Given the description of an element on the screen output the (x, y) to click on. 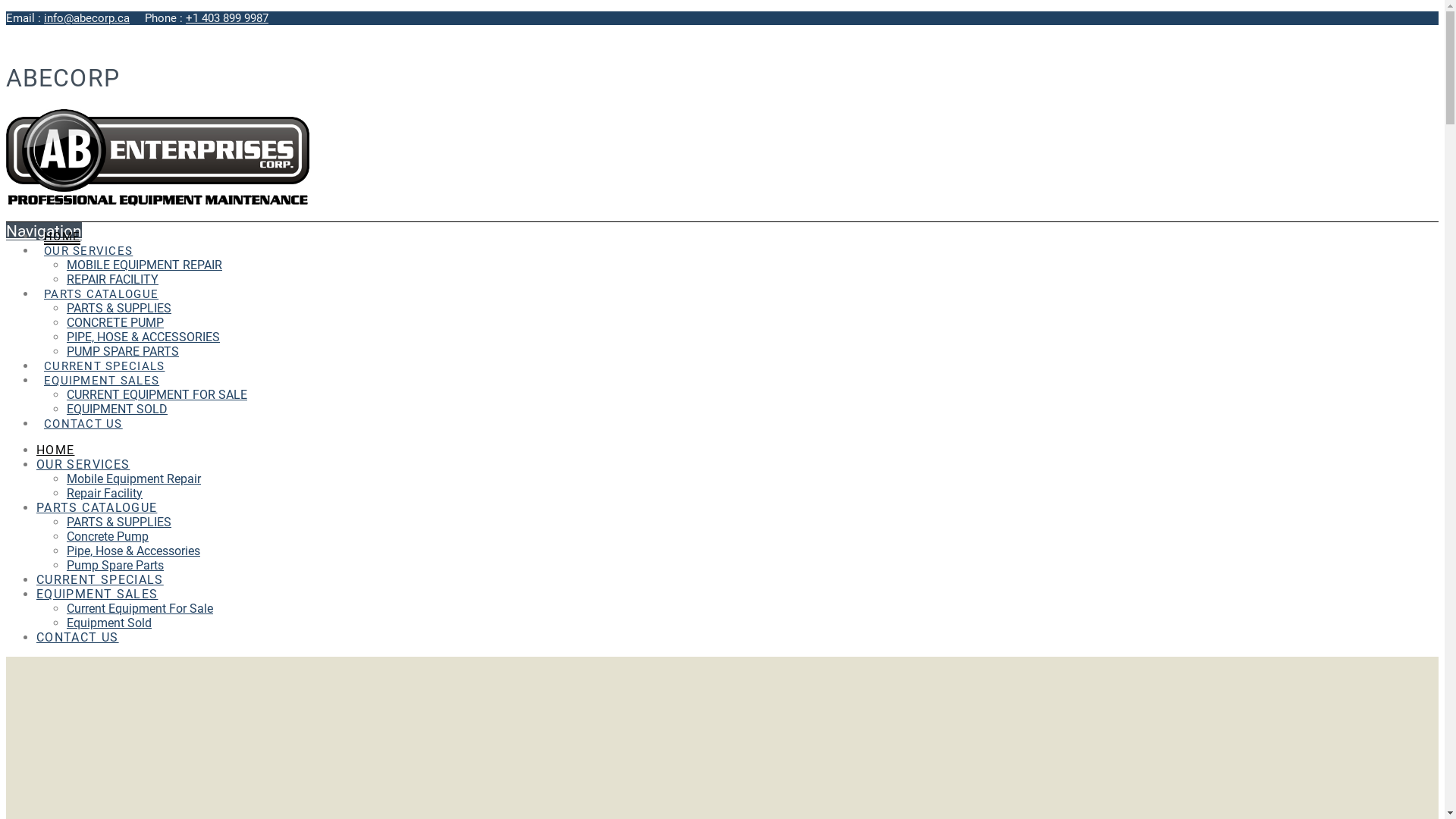
PIPE, HOSE & ACCESSORIES Element type: text (142, 336)
CURRENT SPECIALS Element type: text (103, 349)
Mobile Equipment Repair Element type: text (133, 478)
Navigation Element type: text (43, 231)
CONCRETE PUMP Element type: text (114, 322)
Pipe, Hose & Accessories Element type: text (133, 550)
OUR SERVICES Element type: text (87, 234)
EQUIPMENT SALES Element type: text (96, 593)
MOBILE EQUIPMENT REPAIR Element type: text (144, 264)
Pump Spare Parts Element type: text (114, 565)
CURRENT EQUIPMENT FOR SALE Element type: text (156, 394)
CURRENT SPECIALS Element type: text (99, 579)
abecorp Element type: hover (157, 201)
OUR SERVICES Element type: text (82, 464)
REPAIR FACILITY Element type: text (112, 279)
PARTS CATALOGUE Element type: text (100, 277)
PARTS & SUPPLIES Element type: text (118, 521)
Equipment Sold Element type: text (108, 622)
info@abecorp.ca Element type: text (86, 18)
PARTS & SUPPLIES Element type: text (118, 308)
HOME Element type: text (55, 449)
CONTACT US Element type: text (82, 407)
CONTACT US Element type: text (77, 637)
PARTS CATALOGUE Element type: text (96, 507)
EQUIPMENT SOLD Element type: text (116, 408)
PUMP SPARE PARTS Element type: text (122, 351)
+1 403 899 9987 Element type: text (226, 18)
Concrete Pump Element type: text (107, 536)
Repair Facility Element type: text (104, 493)
EQUIPMENT SALES Element type: text (101, 364)
HOME Element type: text (61, 220)
Current Equipment For Sale Element type: text (139, 608)
